Given the description of an element on the screen output the (x, y) to click on. 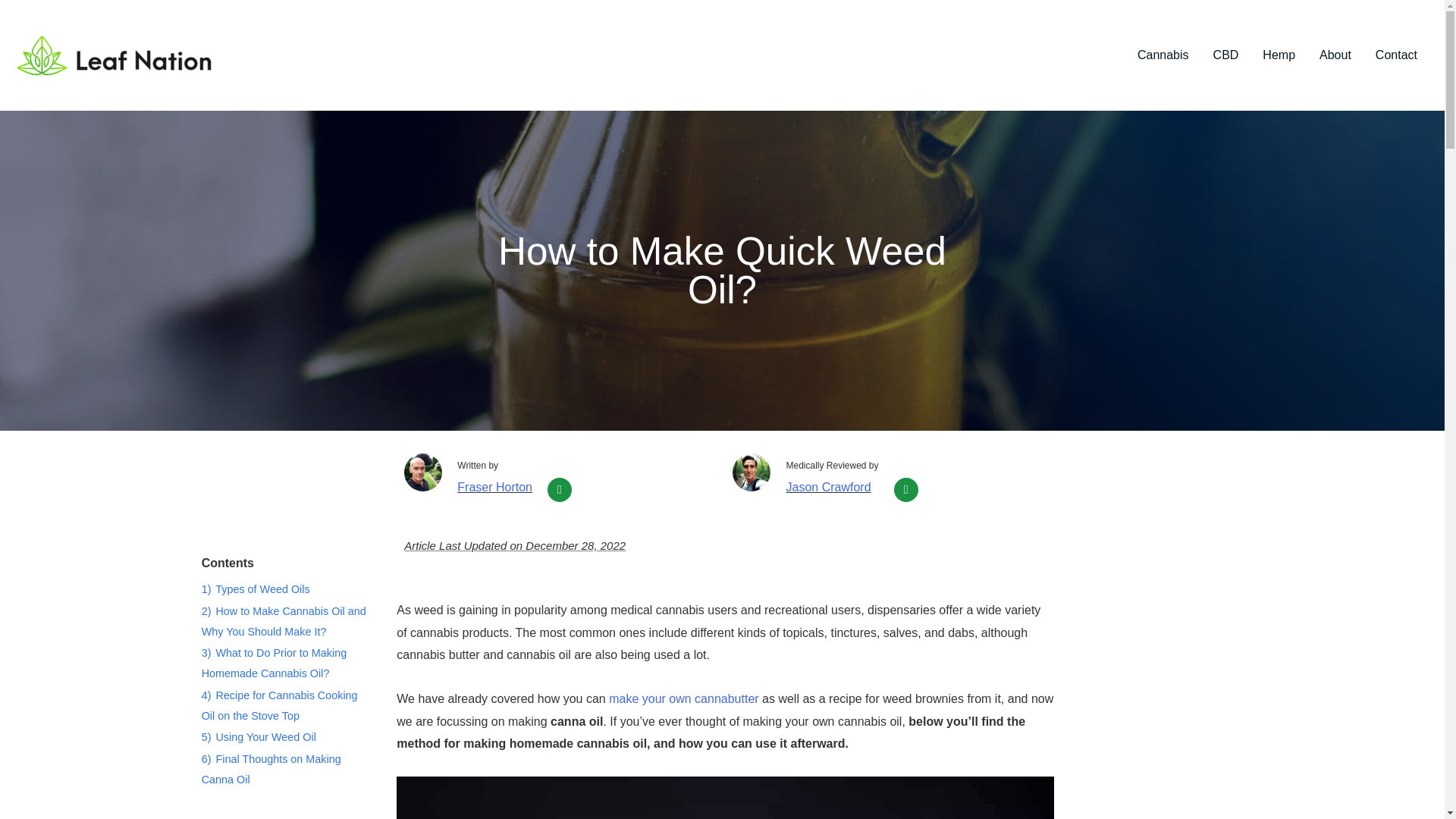
fraser-horton (423, 472)
make your own cannabutter (683, 698)
Hemp (1278, 55)
CBD (1225, 55)
Cannabis (1163, 55)
Contact (1395, 55)
Fraser Horton (494, 486)
About (1334, 55)
jason-crawford (751, 472)
Jason Crawford (828, 486)
